Given the description of an element on the screen output the (x, y) to click on. 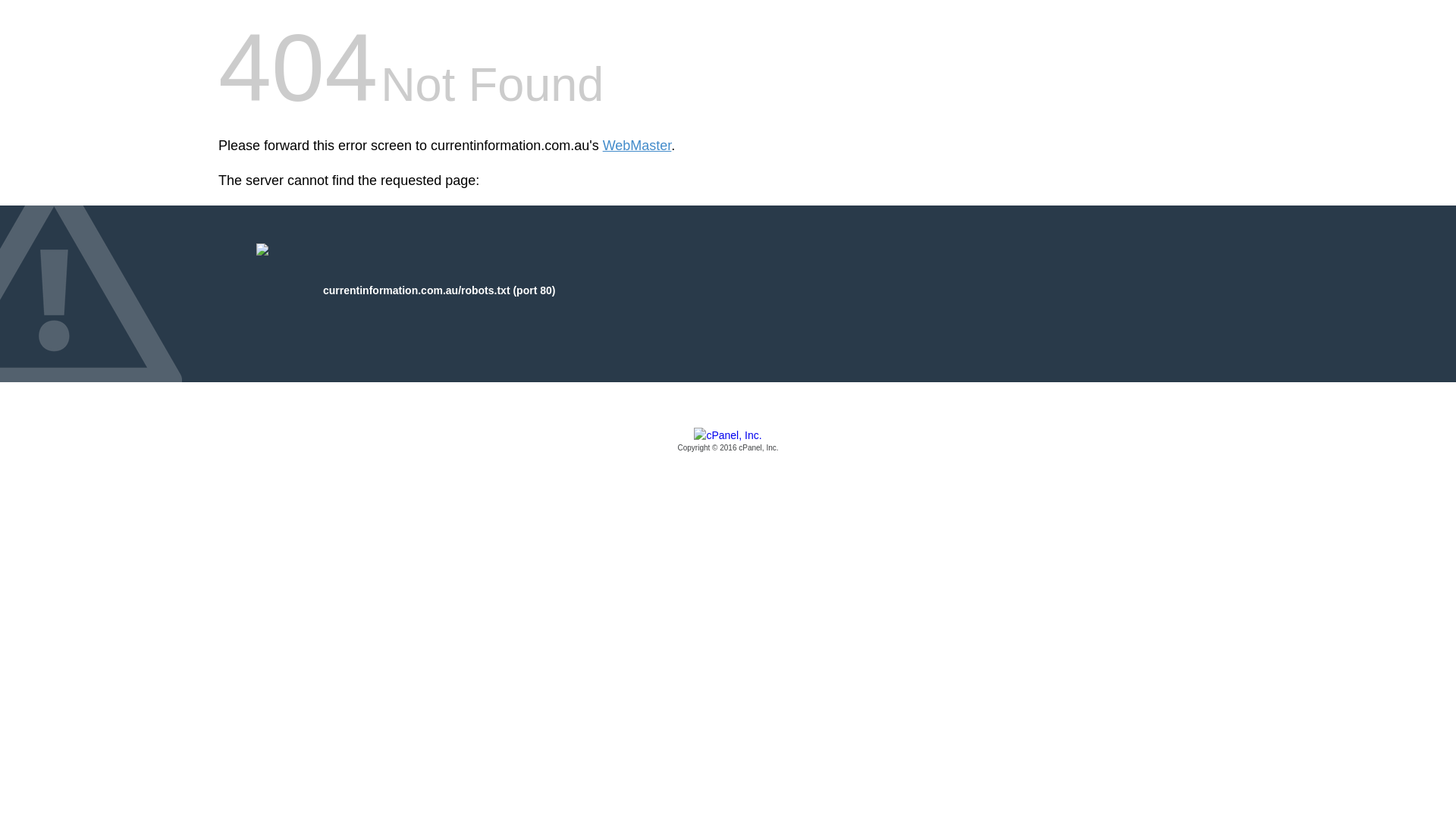
WebMaster Element type: text (636, 145)
